Given the description of an element on the screen output the (x, y) to click on. 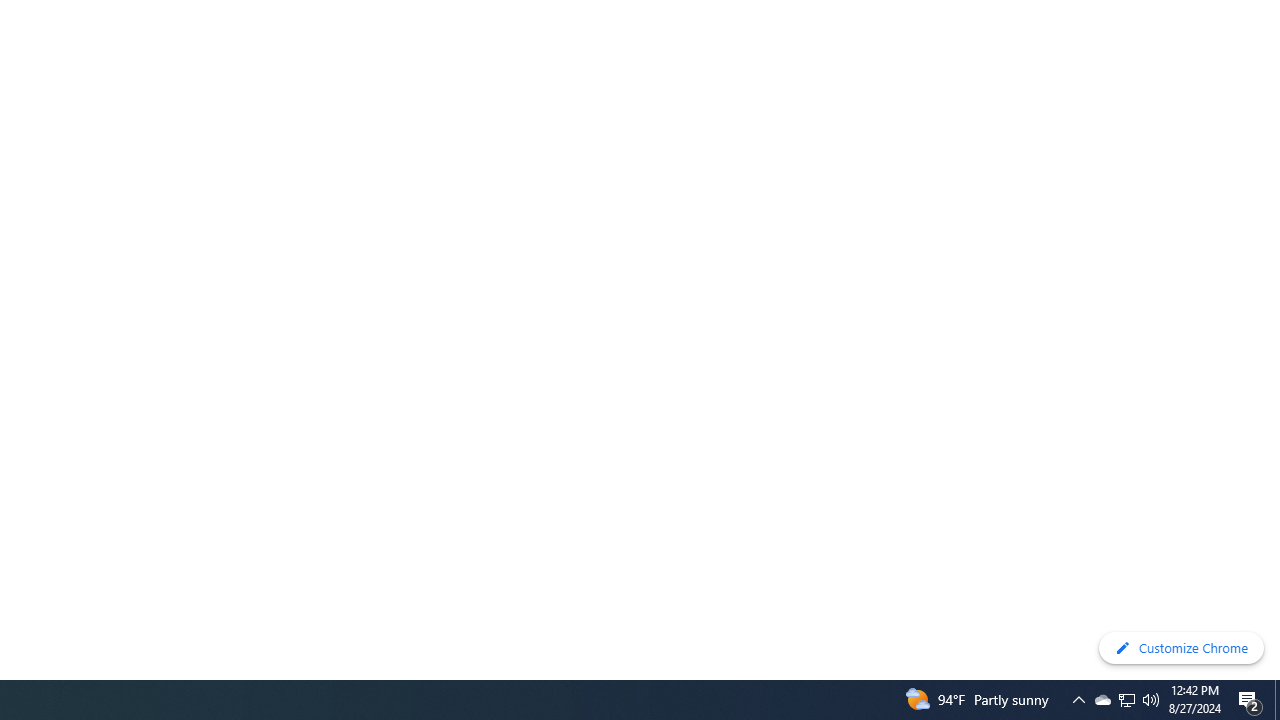
Customize Chrome (1181, 647)
